Given the description of an element on the screen output the (x, y) to click on. 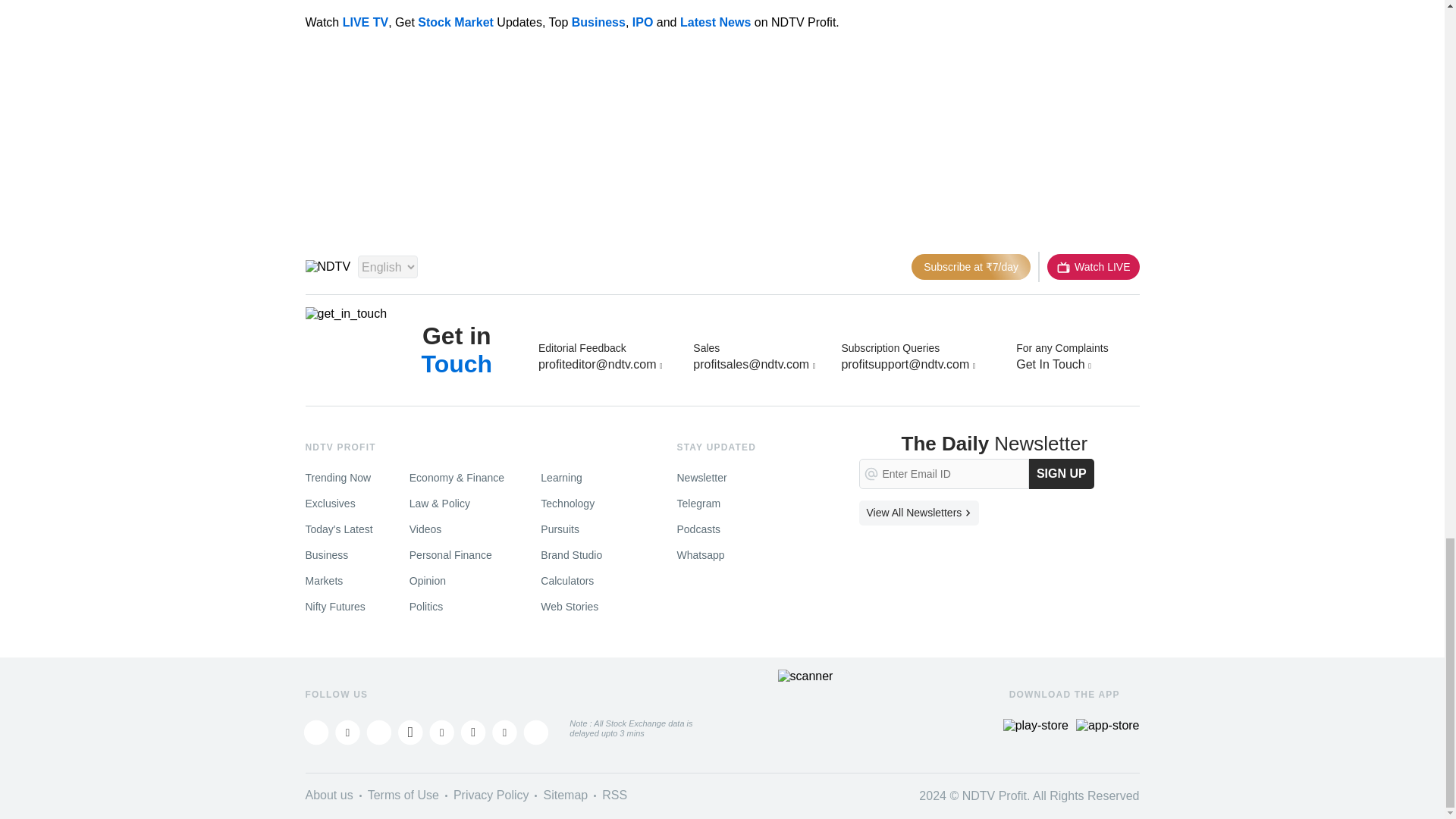
Live TV (1092, 266)
